Given the description of an element on the screen output the (x, y) to click on. 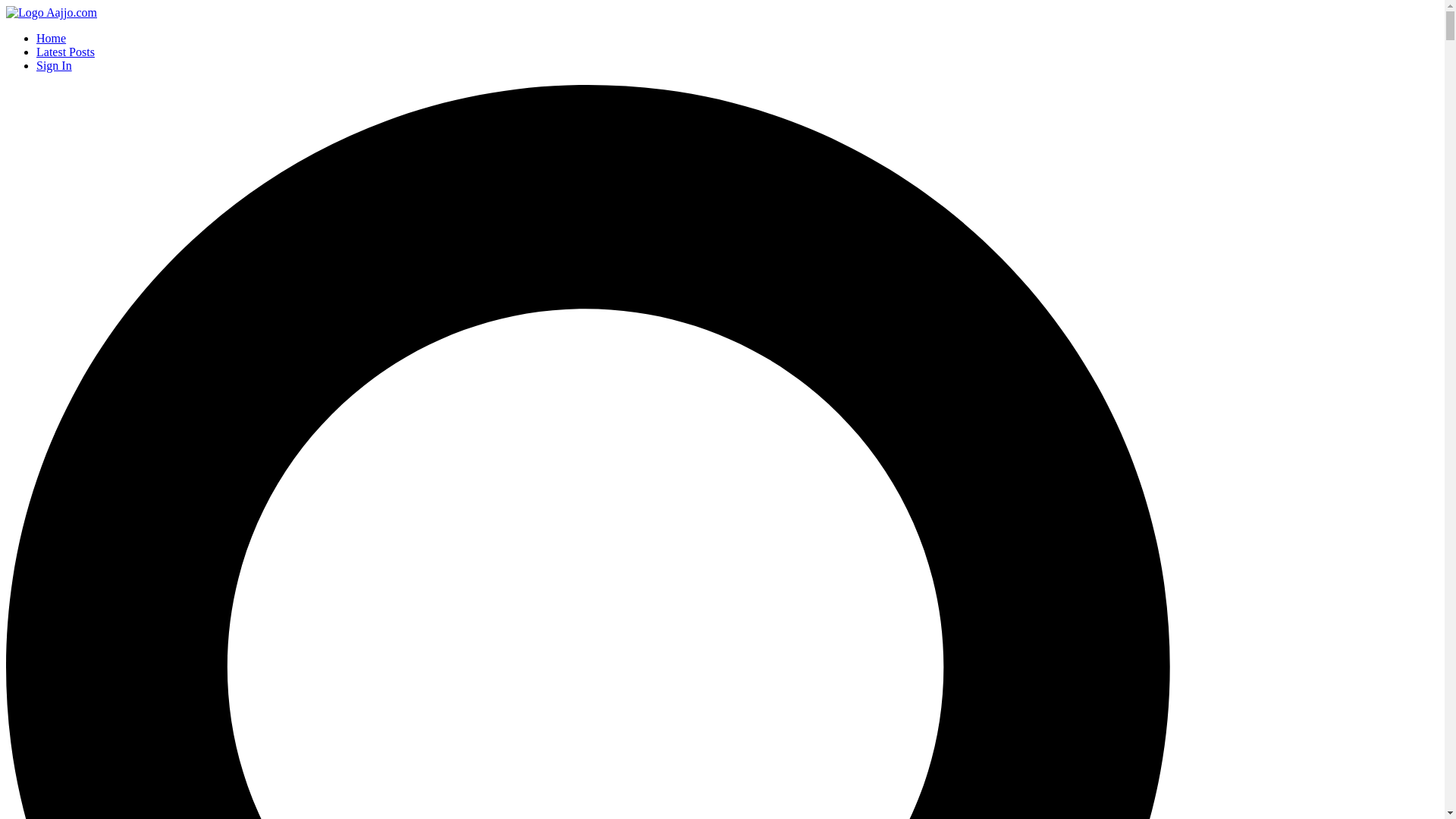
Home (51, 12)
Sign In (53, 65)
Latest Posts (65, 51)
Home (50, 38)
